Given the description of an element on the screen output the (x, y) to click on. 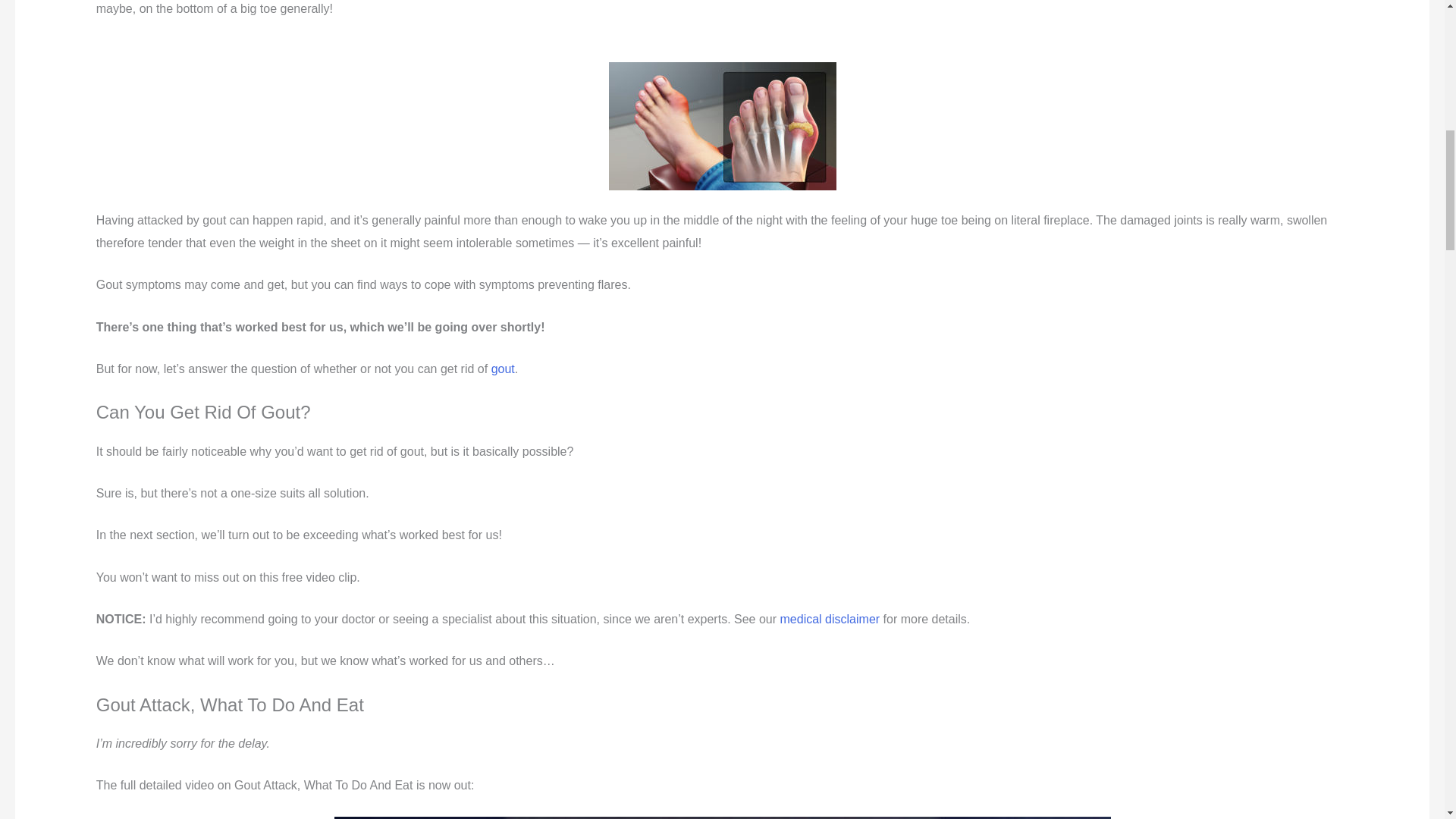
gout (503, 368)
medical disclaimer (830, 618)
